Given the description of an element on the screen output the (x, y) to click on. 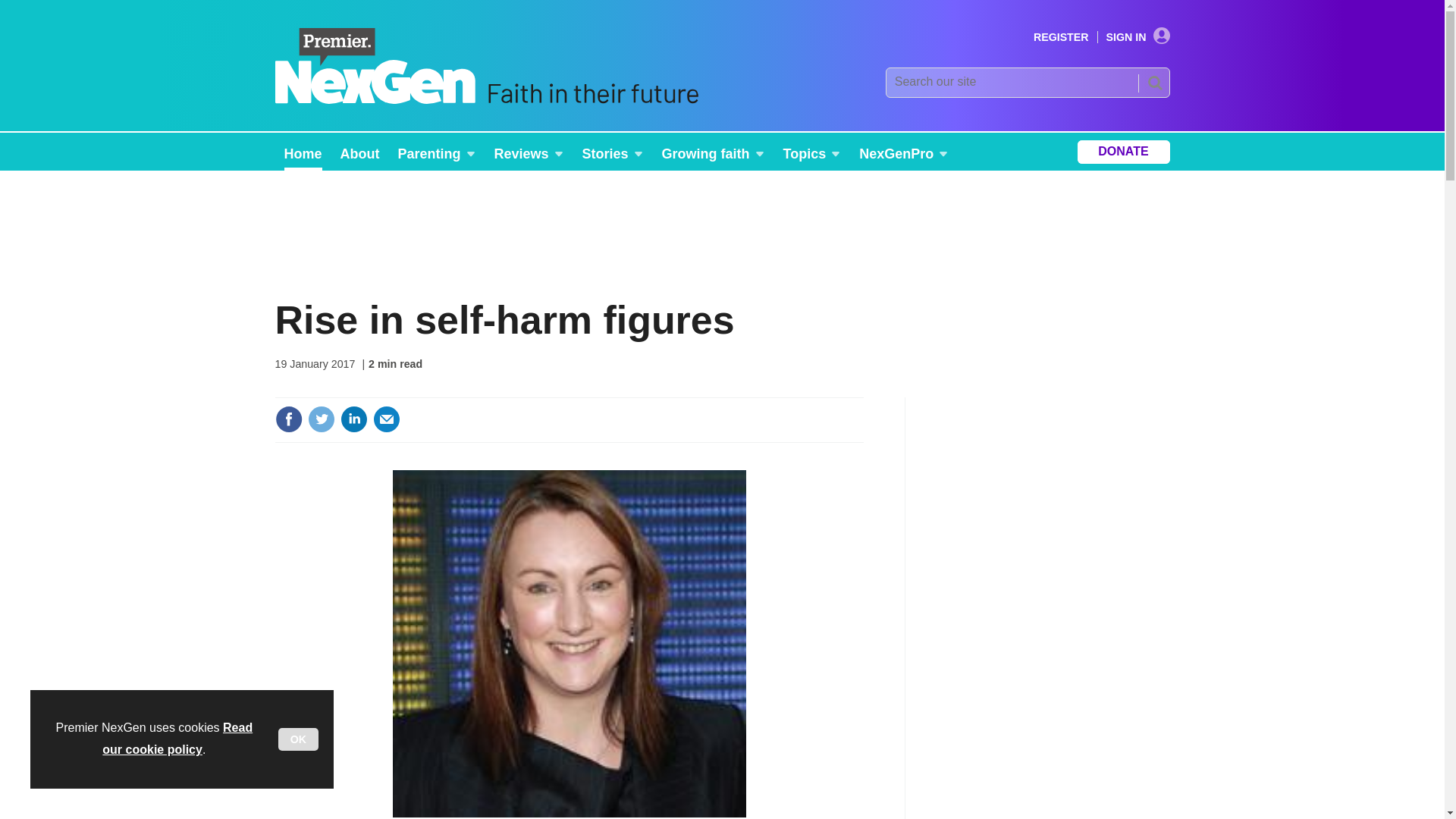
Home (302, 151)
Read our cookie policy (176, 738)
Share this on Linked in (352, 419)
Parenting (436, 151)
About (359, 151)
SEARCH (1153, 82)
SIGN IN (1138, 37)
OK (298, 739)
Site name (486, 99)
Email this article (386, 419)
